Given the description of an element on the screen output the (x, y) to click on. 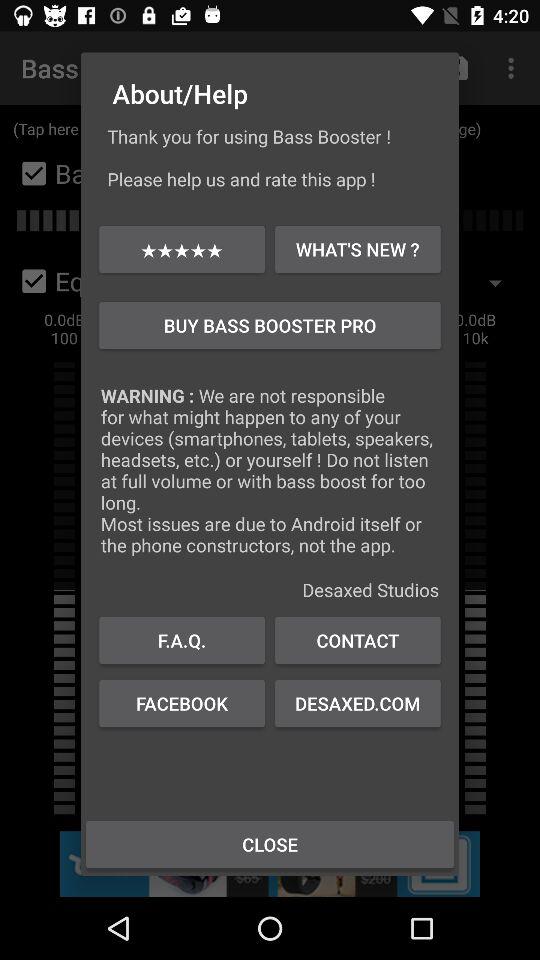
turn on icon below the thank you for (357, 248)
